Given the description of an element on the screen output the (x, y) to click on. 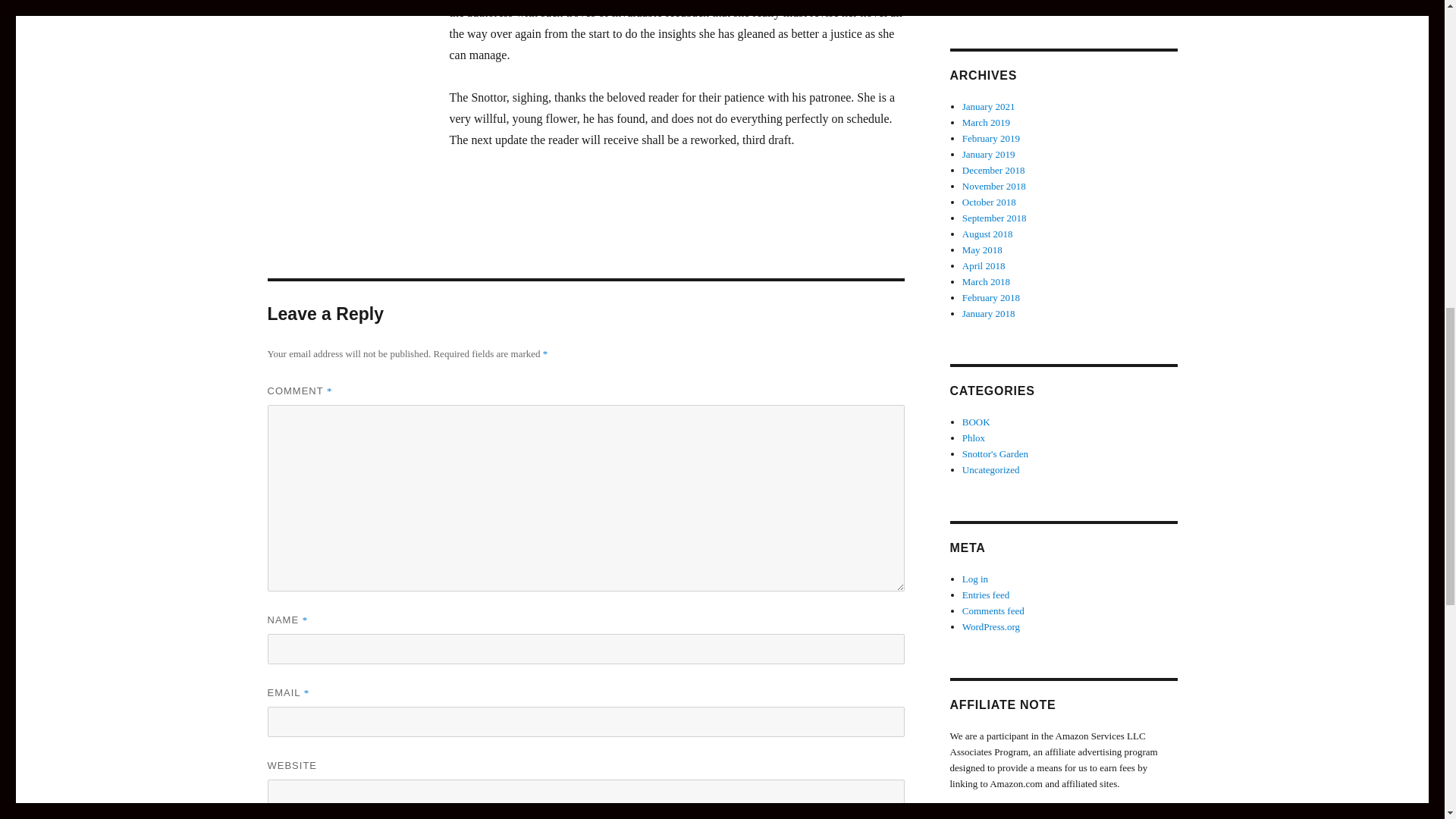
January 2019 (988, 153)
May 2018 (982, 249)
March 2019 (986, 122)
March 2018 (986, 281)
August 2018 (987, 233)
December 2018 (993, 170)
February 2019 (991, 138)
October 2018 (989, 202)
November 2018 (994, 185)
September 2018 (994, 217)
